Given the description of an element on the screen output the (x, y) to click on. 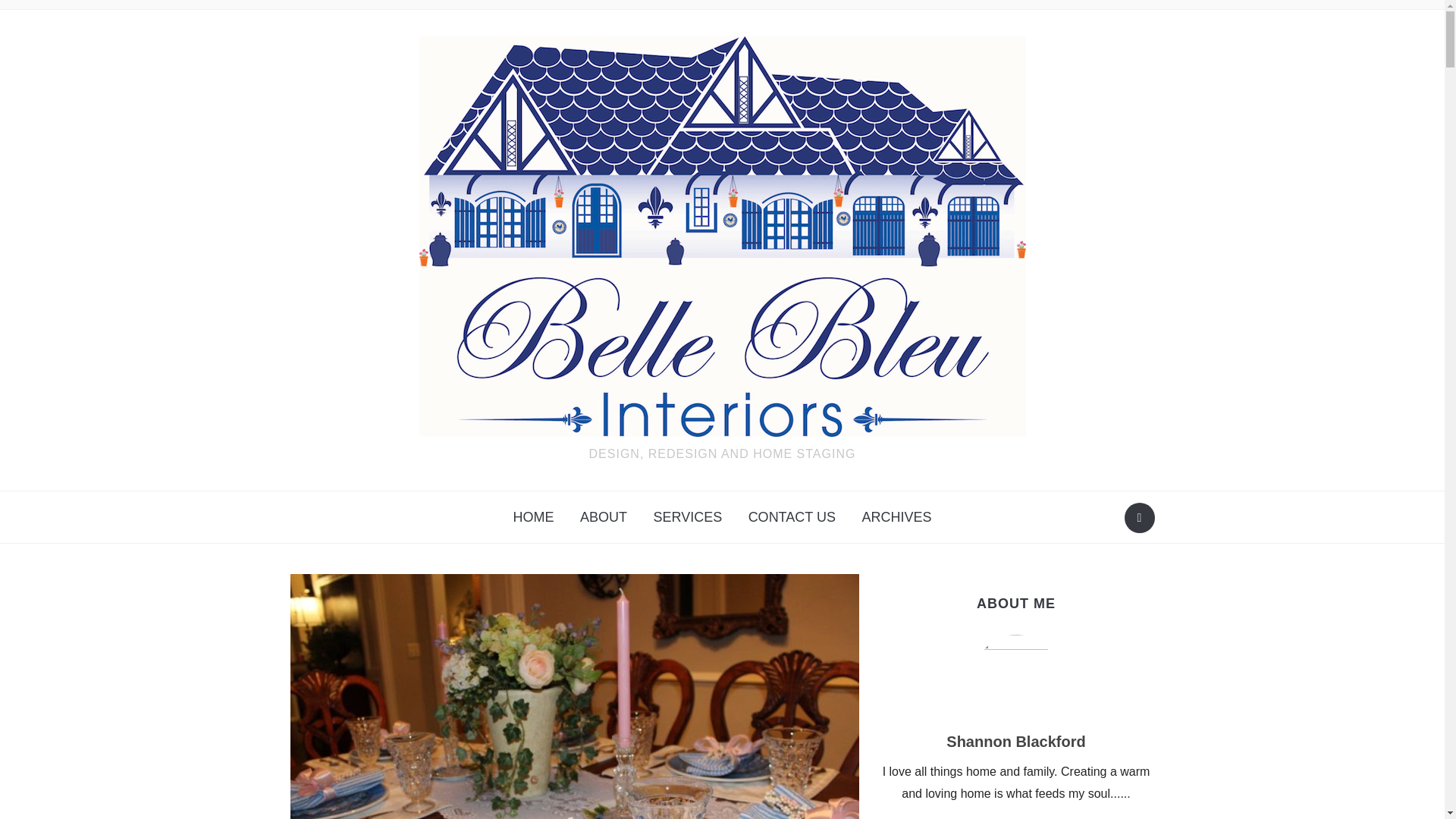
SERVICES (687, 517)
ABOUT (604, 517)
CONTACT US (791, 517)
ARCHIVES (896, 517)
HOME (534, 517)
Search (1139, 517)
